Given the description of an element on the screen output the (x, y) to click on. 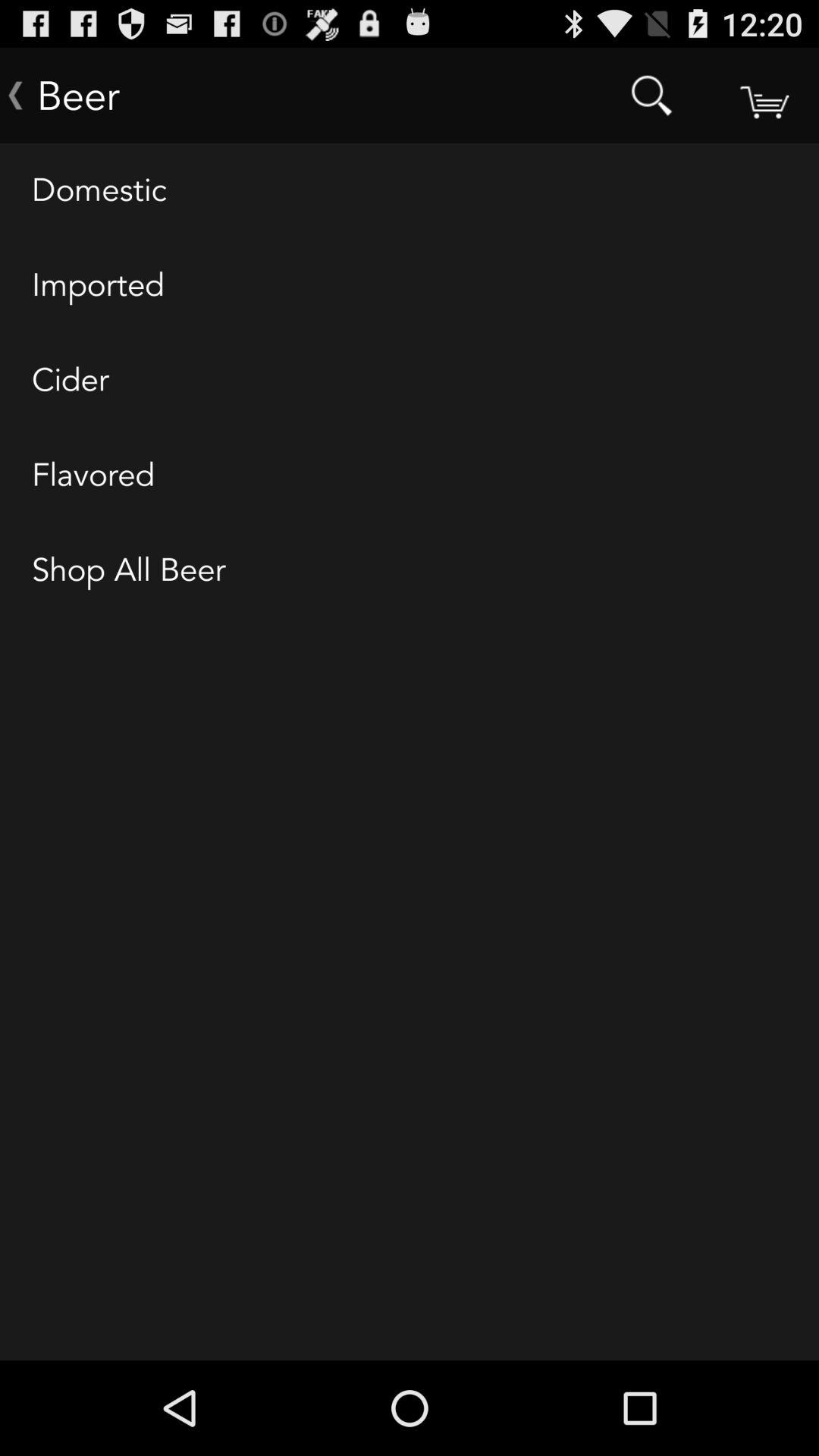
press item above cider icon (409, 285)
